Given the description of an element on the screen output the (x, y) to click on. 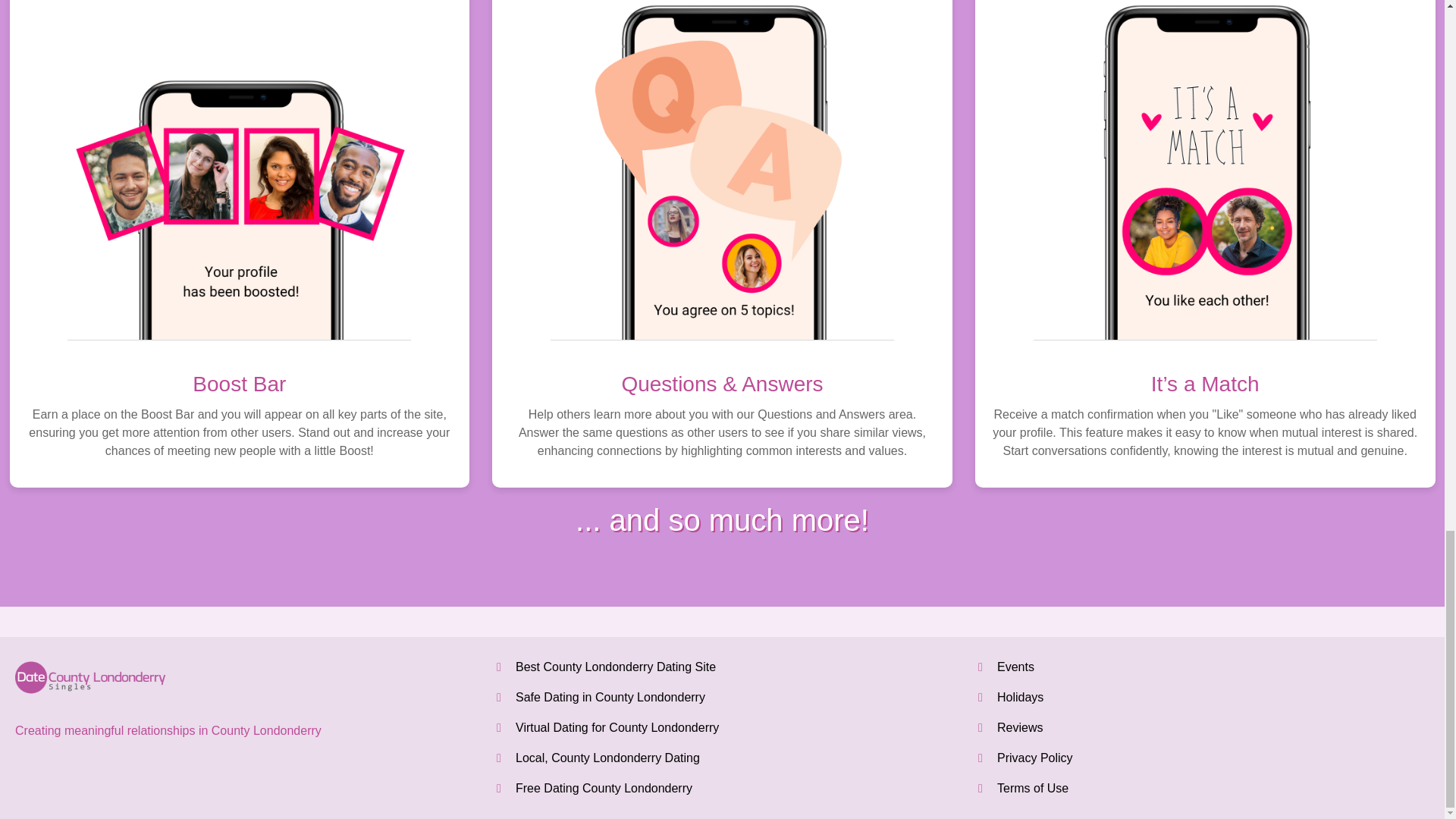
Holidays (1020, 697)
Local, County Londonderry Dating (607, 757)
Best County Londonderry Dating Site (615, 666)
Safe Dating in County Londonderry (609, 697)
Reviews (1019, 727)
Free Dating County Londonderry (604, 788)
Terms of Use (1032, 788)
Privacy Policy (1035, 757)
Events (1015, 666)
Virtual Dating for County Londonderry (617, 727)
